Given the description of an element on the screen output the (x, y) to click on. 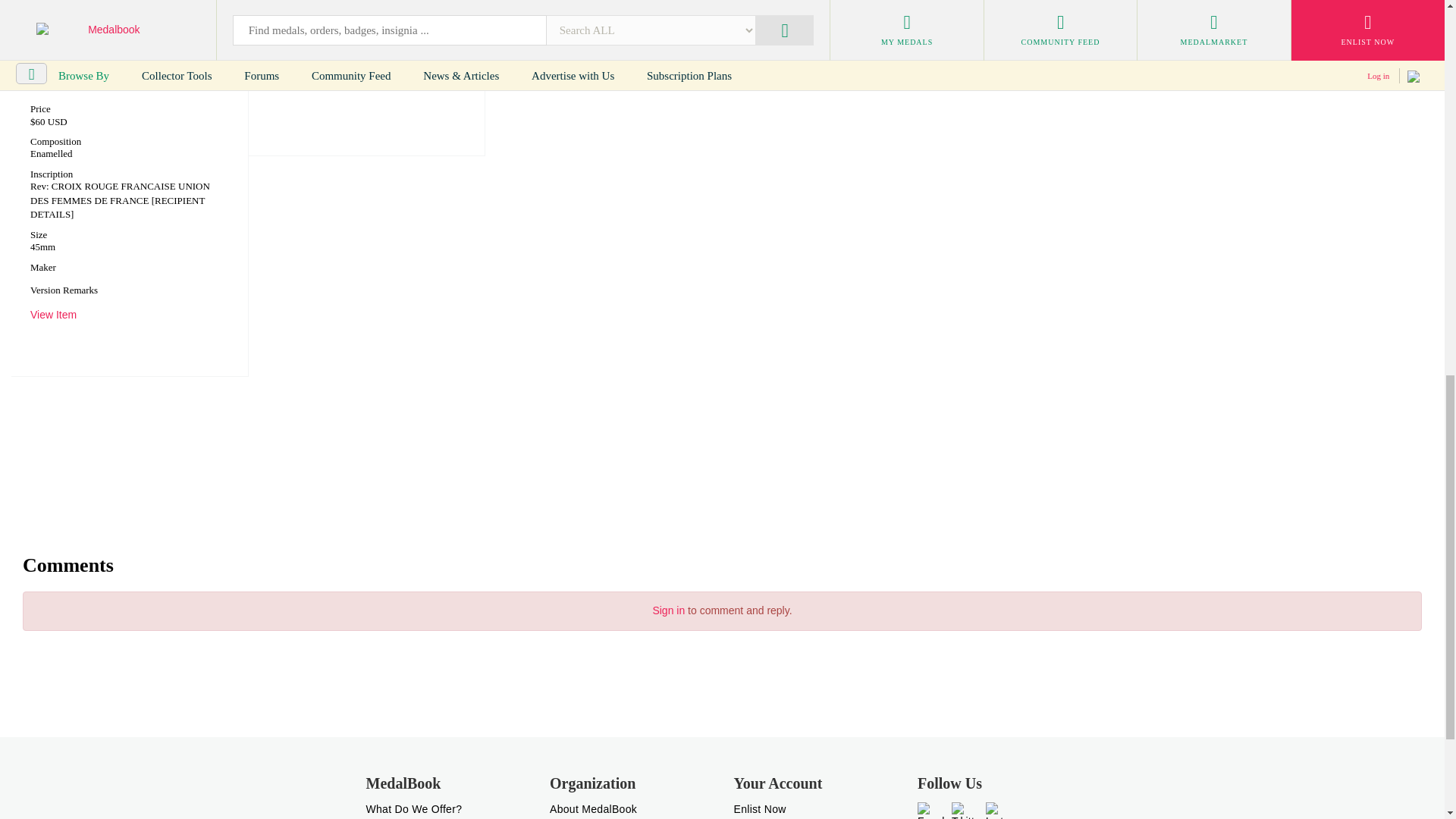
About MedalBook (593, 808)
What do we offer? (413, 808)
View Item (53, 314)
What Do We Offer? (413, 808)
UFF MERIT MEDAL, MEDAL (104, 80)
Sign in (668, 610)
